Given the description of an element on the screen output the (x, y) to click on. 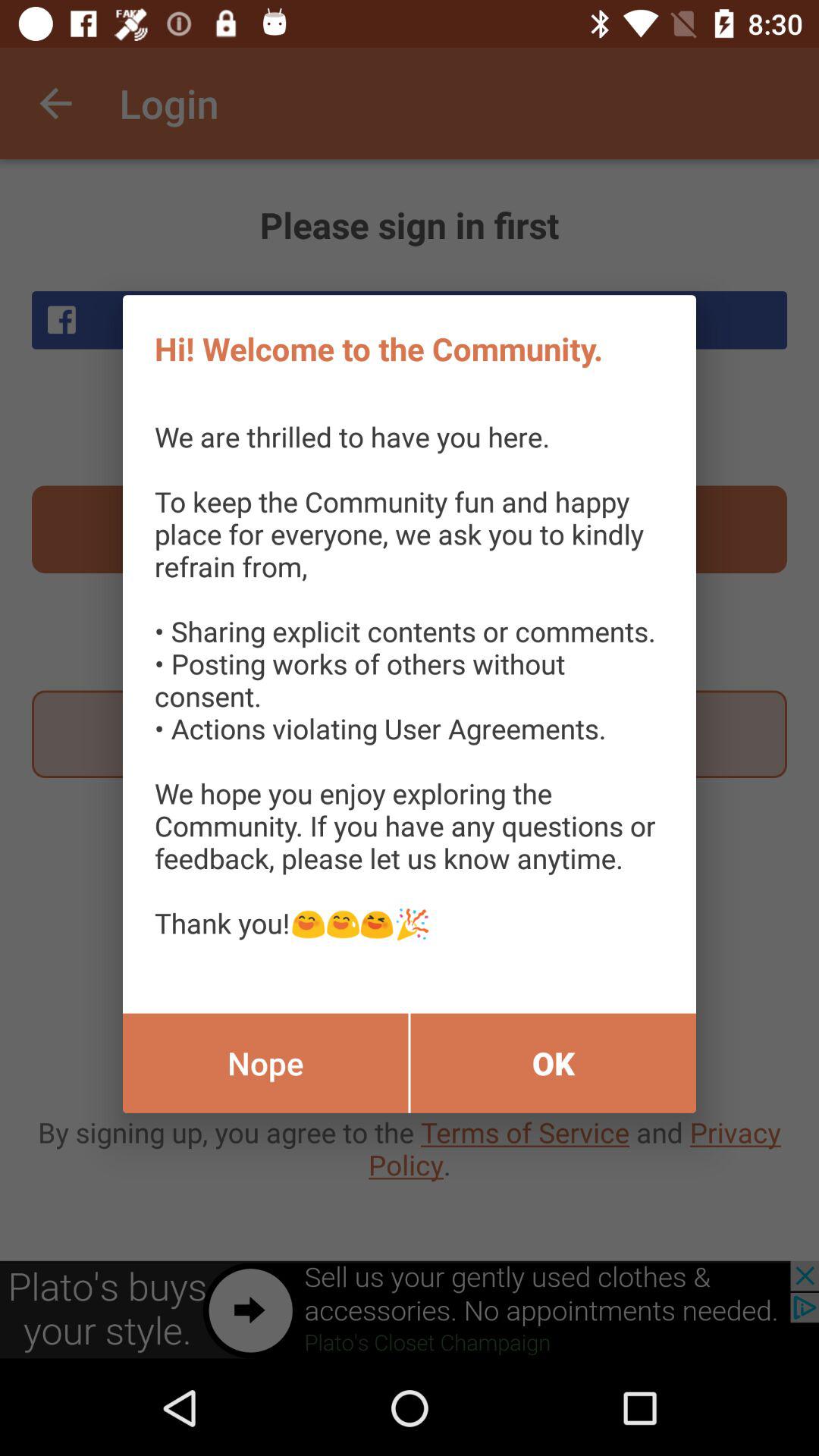
turn off the item below we are thrilled item (265, 1063)
